Given the description of an element on the screen output the (x, y) to click on. 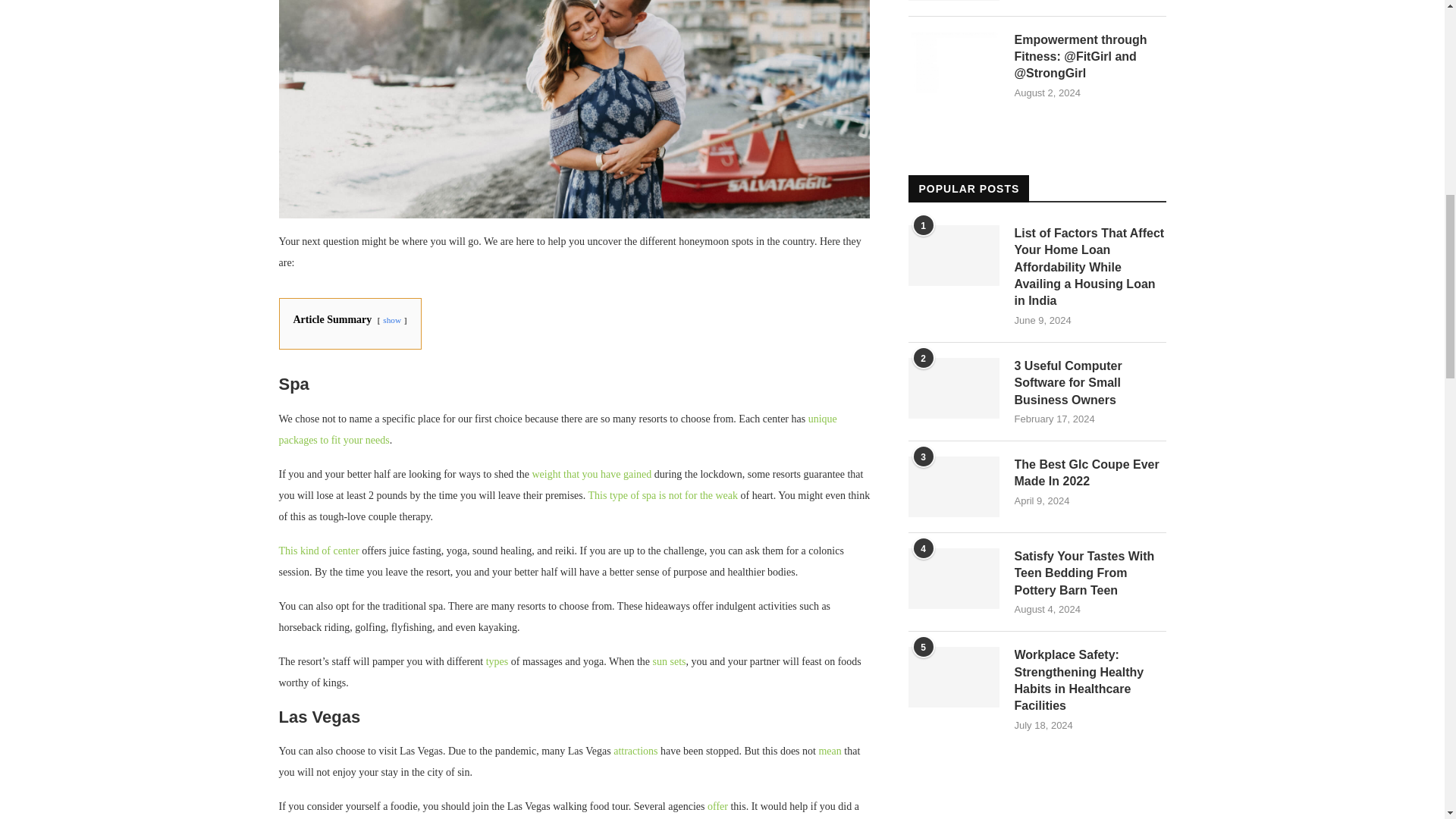
Bridal Woes: Pandemic Honeymoon 2 (574, 109)
